Given the description of an element on the screen output the (x, y) to click on. 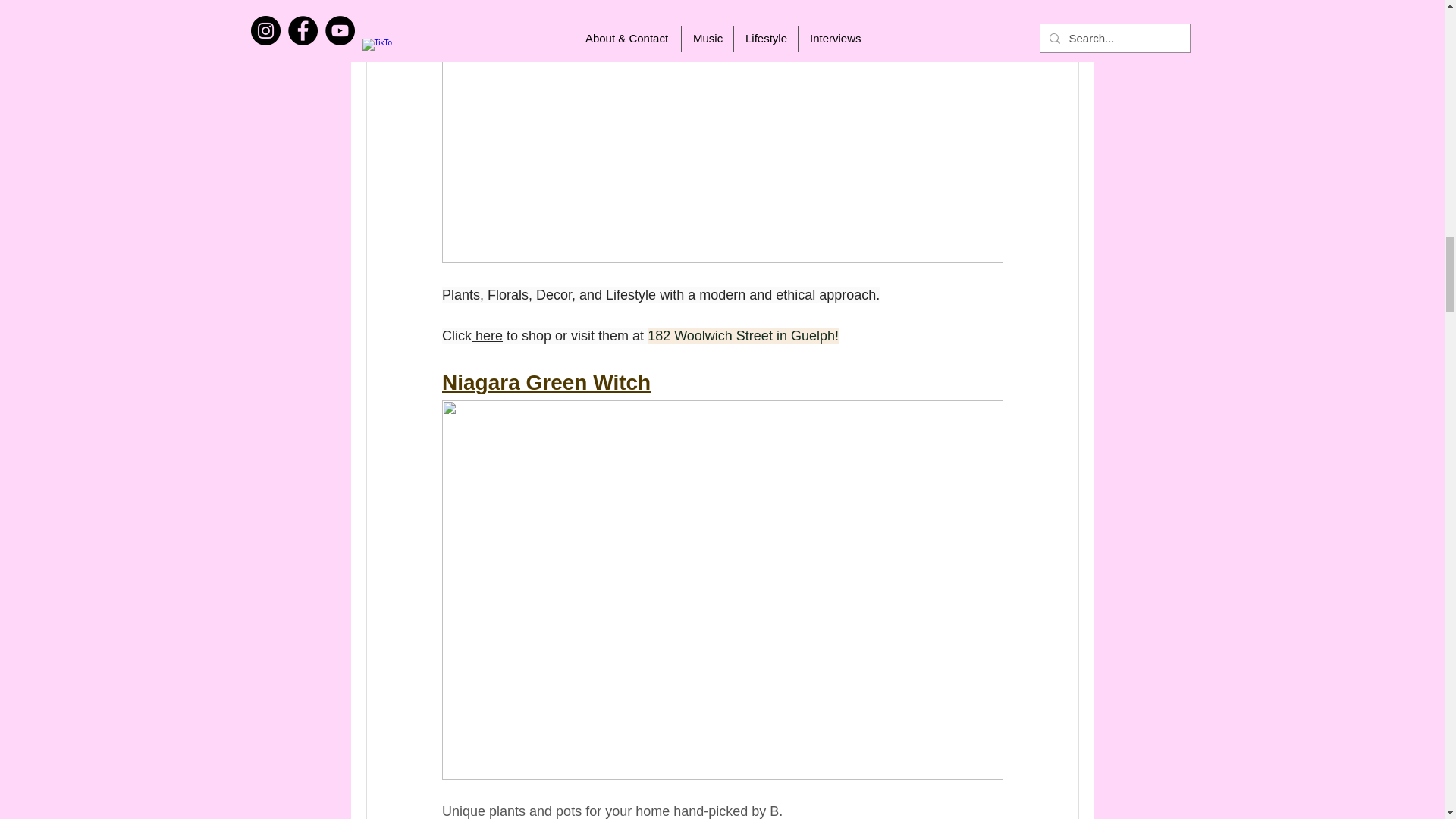
 here (486, 335)
